Given the description of an element on the screen output the (x, y) to click on. 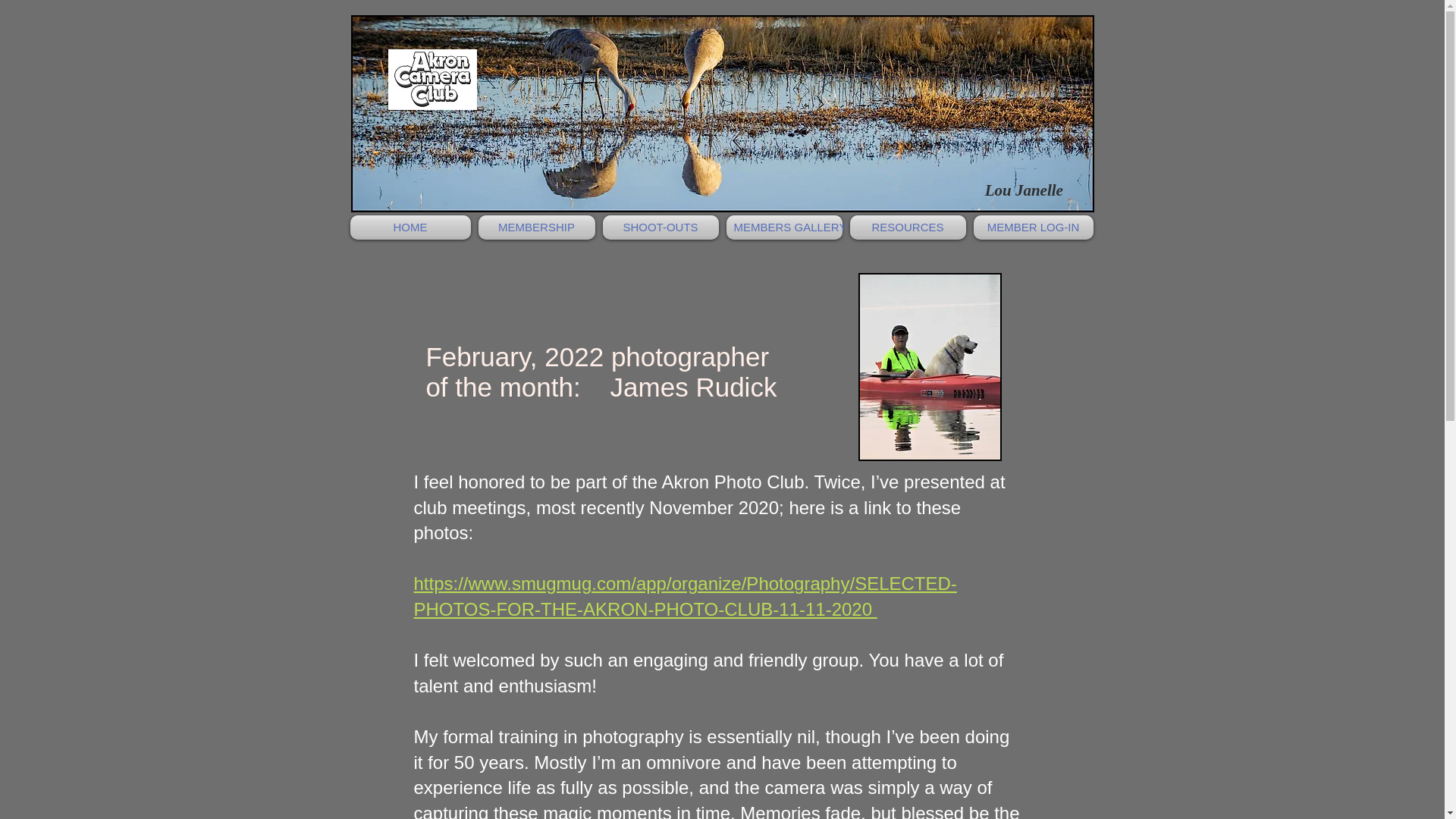
MEMBERS GALLERY (783, 227)
HOME (412, 227)
SHOOT-OUTS (660, 227)
MEMBER LOG-IN (1031, 227)
RESOURCES (907, 227)
MEMBERSHIP (536, 227)
